Given the description of an element on the screen output the (x, y) to click on. 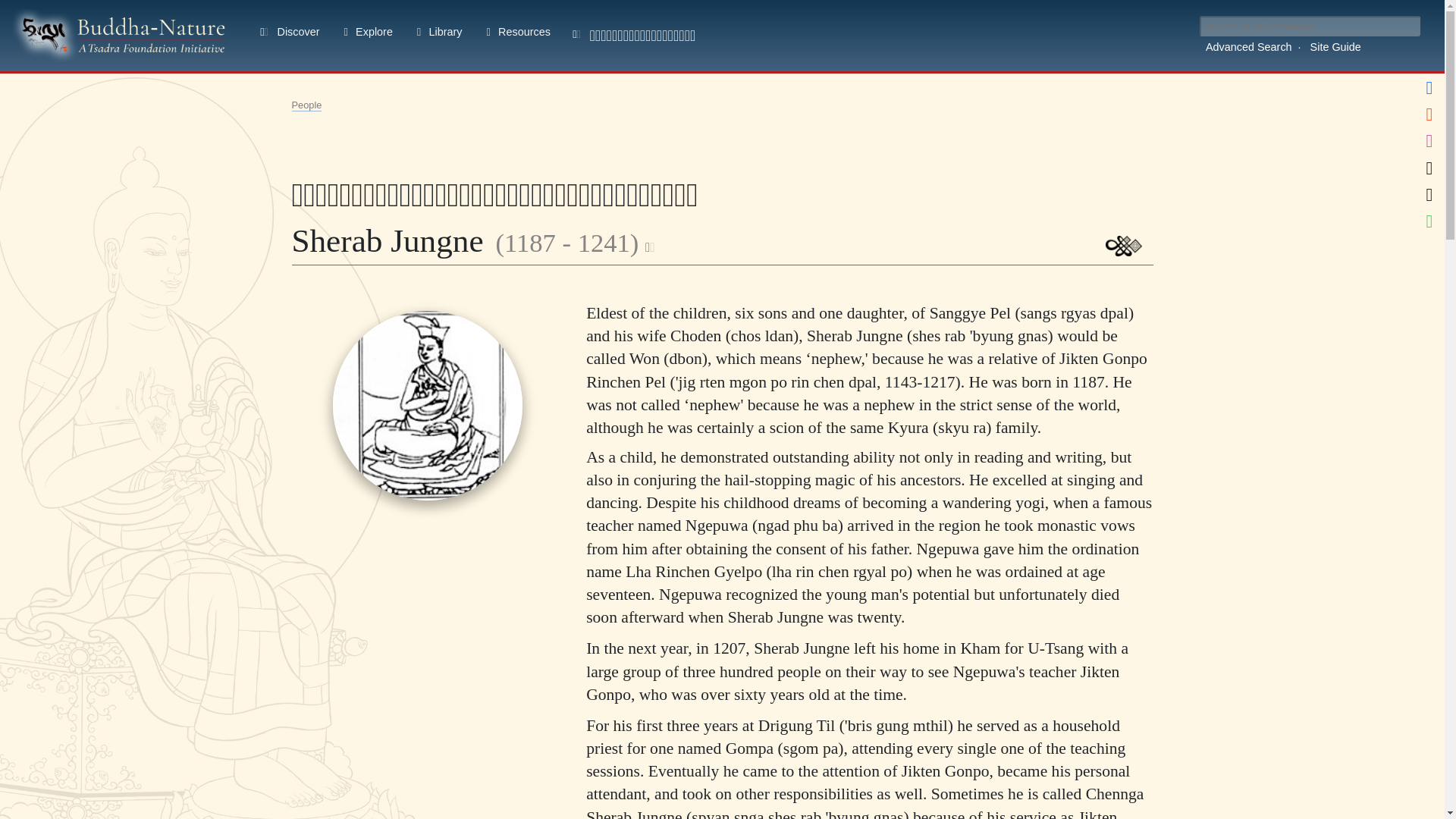
Library (437, 32)
YouTube (1429, 113)
People (306, 105)
WhatsApp (1429, 220)
Explore (365, 32)
Threads (1429, 167)
X Twitter (1429, 194)
Resources (515, 32)
Site Guide (1335, 47)
Advanced Search (1248, 47)
